Given the description of an element on the screen output the (x, y) to click on. 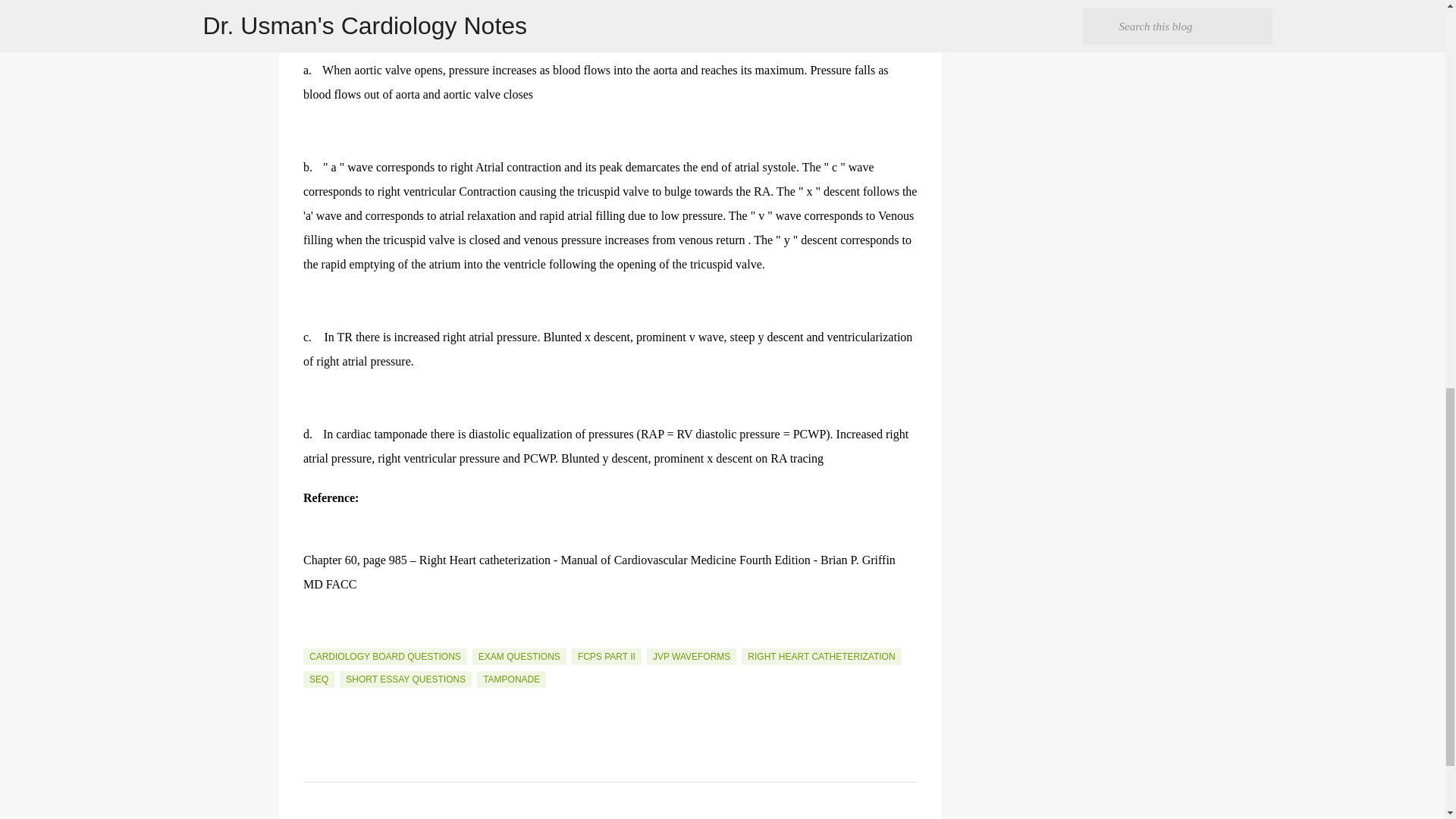
JVP WAVEFORMS (691, 656)
FCPS PART II (607, 656)
SHORT ESSAY QUESTIONS (405, 678)
TAMPONADE (511, 678)
RIGHT HEART CATHETERIZATION (821, 656)
EXAM QUESTIONS (518, 656)
SEQ (318, 678)
CARDIOLOGY BOARD QUESTIONS (384, 656)
